Given the description of an element on the screen output the (x, y) to click on. 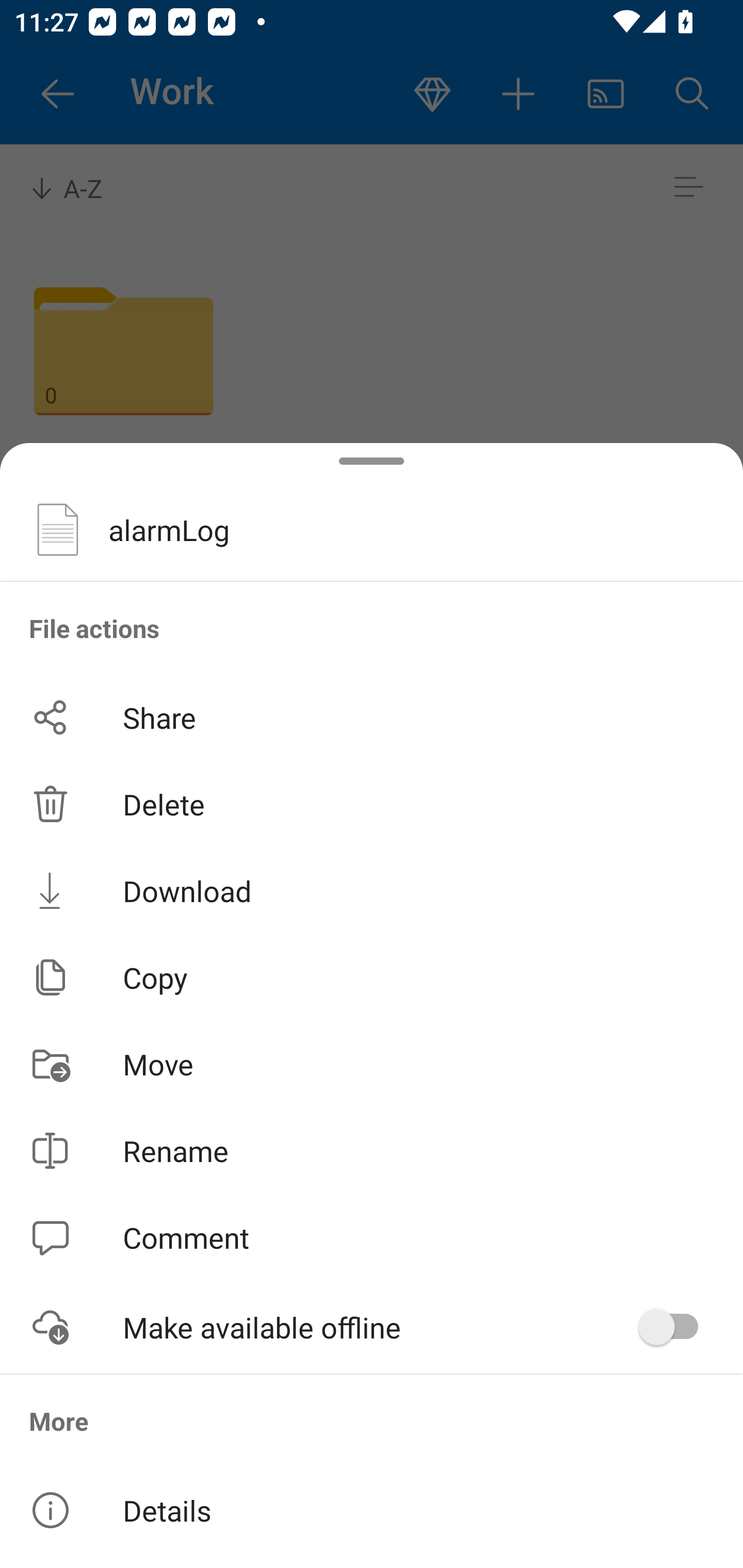
Share button Share (371, 717)
Delete button Delete (371, 803)
Download button Download (371, 890)
Copy button Copy (371, 977)
Move button Move (371, 1063)
Rename button Rename (371, 1150)
Comment button Comment (371, 1237)
Make offline operation (674, 1327)
Details button Details (371, 1510)
